Given the description of an element on the screen output the (x, y) to click on. 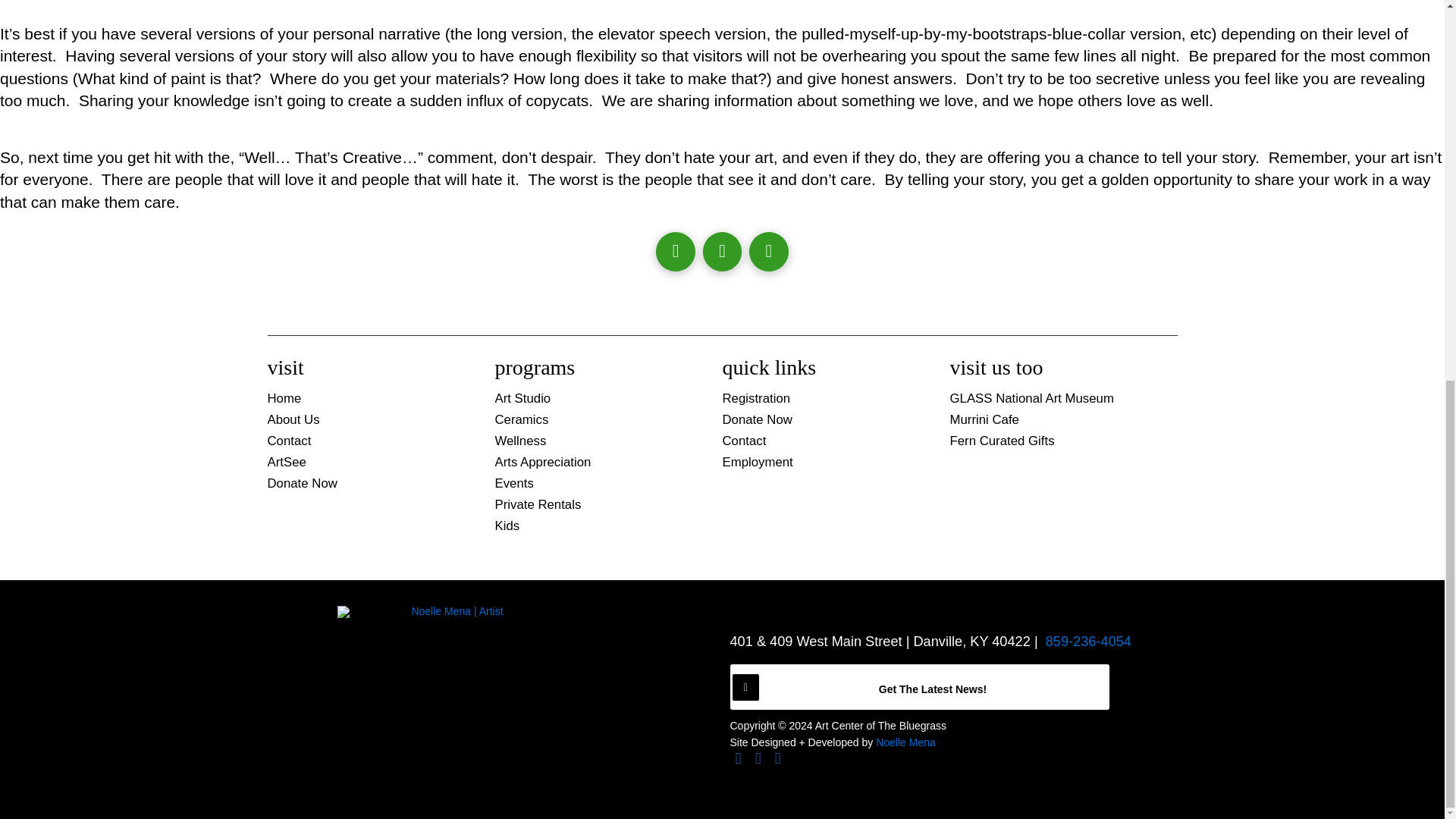
Private Rentals (597, 505)
Contact (825, 441)
Fern Curated Gifts (1052, 441)
Art Studio (597, 399)
Contact (369, 441)
Home (369, 399)
Kids (597, 526)
Donate Now (369, 484)
Donate Now (825, 420)
Wellness (597, 441)
Murrini Cafe (1052, 420)
859-236-4054 (1088, 641)
About Us (369, 420)
Registration (825, 399)
Events (597, 484)
